Given the description of an element on the screen output the (x, y) to click on. 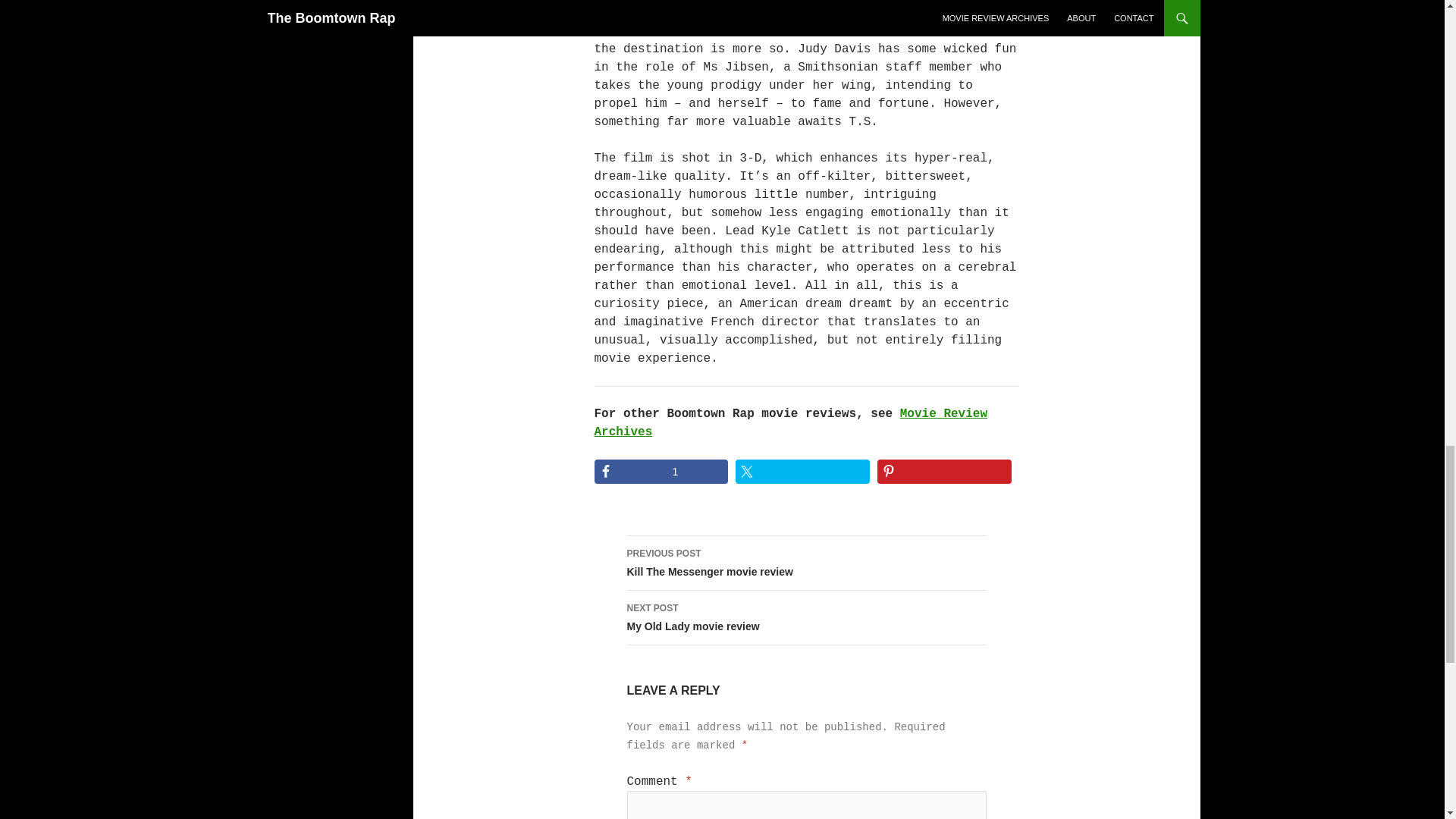
Share on Facebook (661, 471)
1 (661, 471)
Share on Twitter (802, 471)
Share on Pinterest (805, 563)
Movie Review Archives (805, 617)
